Given the description of an element on the screen output the (x, y) to click on. 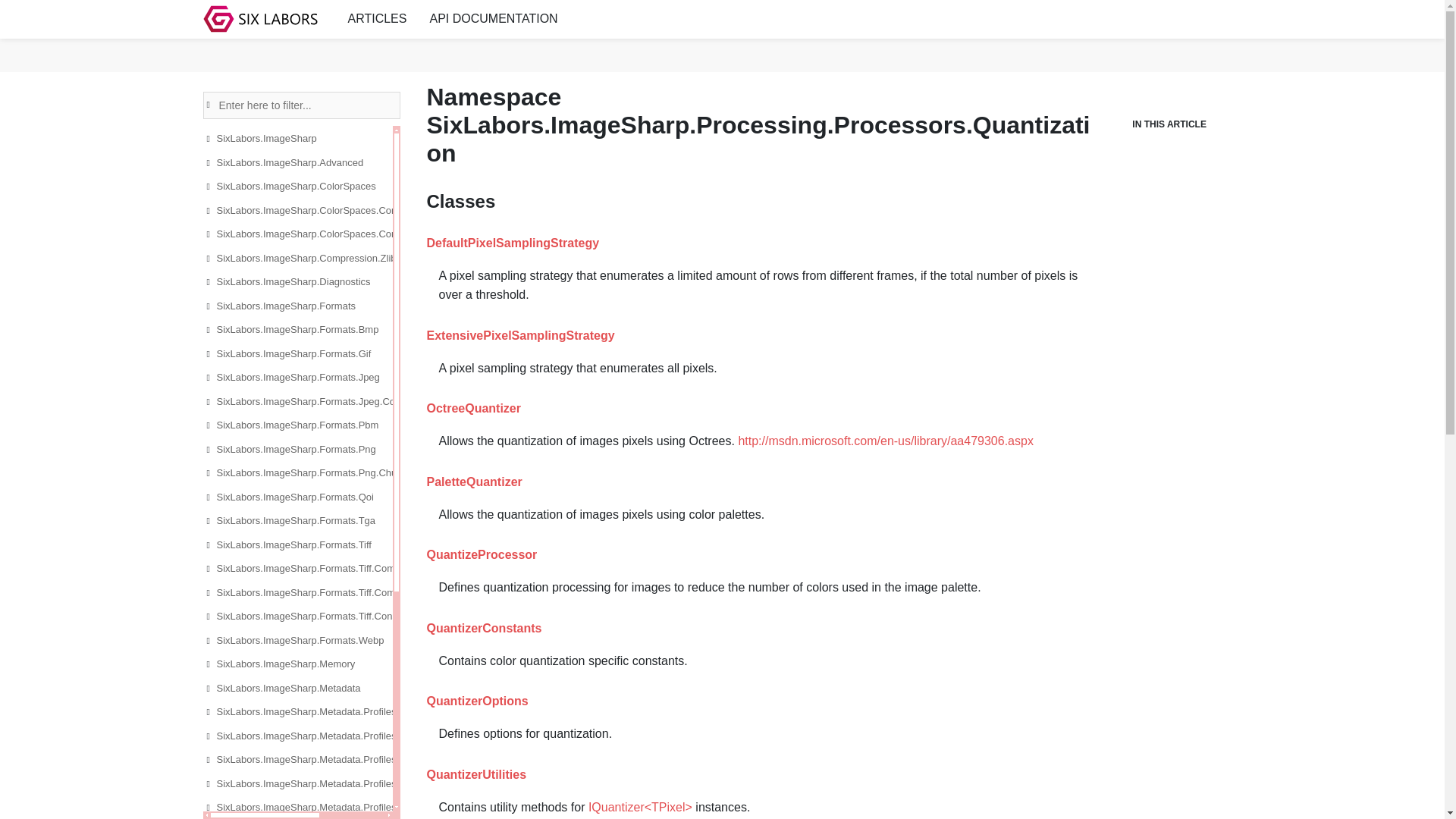
SixLabors.ImageSharp (355, 138)
API DOCUMENTATION (493, 18)
Articles (377, 18)
API Documentation (493, 18)
ARTICLES (377, 18)
SixLabors.ImageSharp (355, 138)
